Given the description of an element on the screen output the (x, y) to click on. 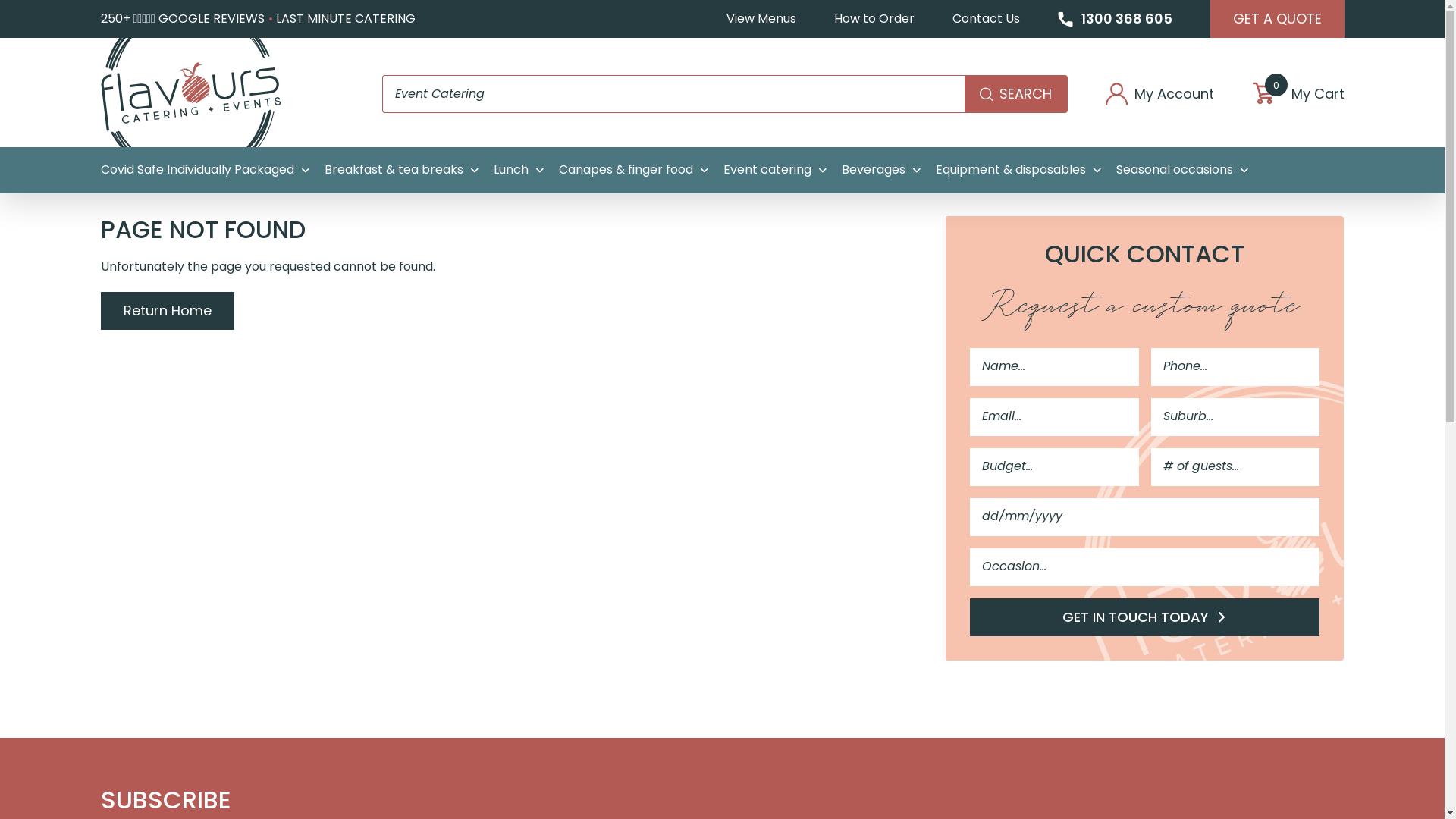
SEARCH Element type: text (1015, 93)
0
My Cart Element type: text (1297, 93)
GET A QUOTE Element type: text (1277, 18)
1300 368 605 Element type: text (1114, 18)
How to Order Element type: text (874, 18)
Breakfast & tea breaks Element type: text (401, 170)
View Menus Element type: text (761, 18)
Equipment & disposables Element type: text (1018, 170)
Beverages Element type: text (880, 170)
GET IN TOUCH TODAY Element type: text (1144, 617)
My Account Element type: text (1159, 93)
Seasonal occasions Element type: text (1182, 170)
Event catering Element type: text (774, 170)
Return Home Element type: text (166, 310)
Contact Us Element type: text (985, 18)
Lunch Element type: text (517, 170)
Covid Safe Individually Packaged Element type: text (204, 170)
Canapes & finger food Element type: text (632, 170)
